Given the description of an element on the screen output the (x, y) to click on. 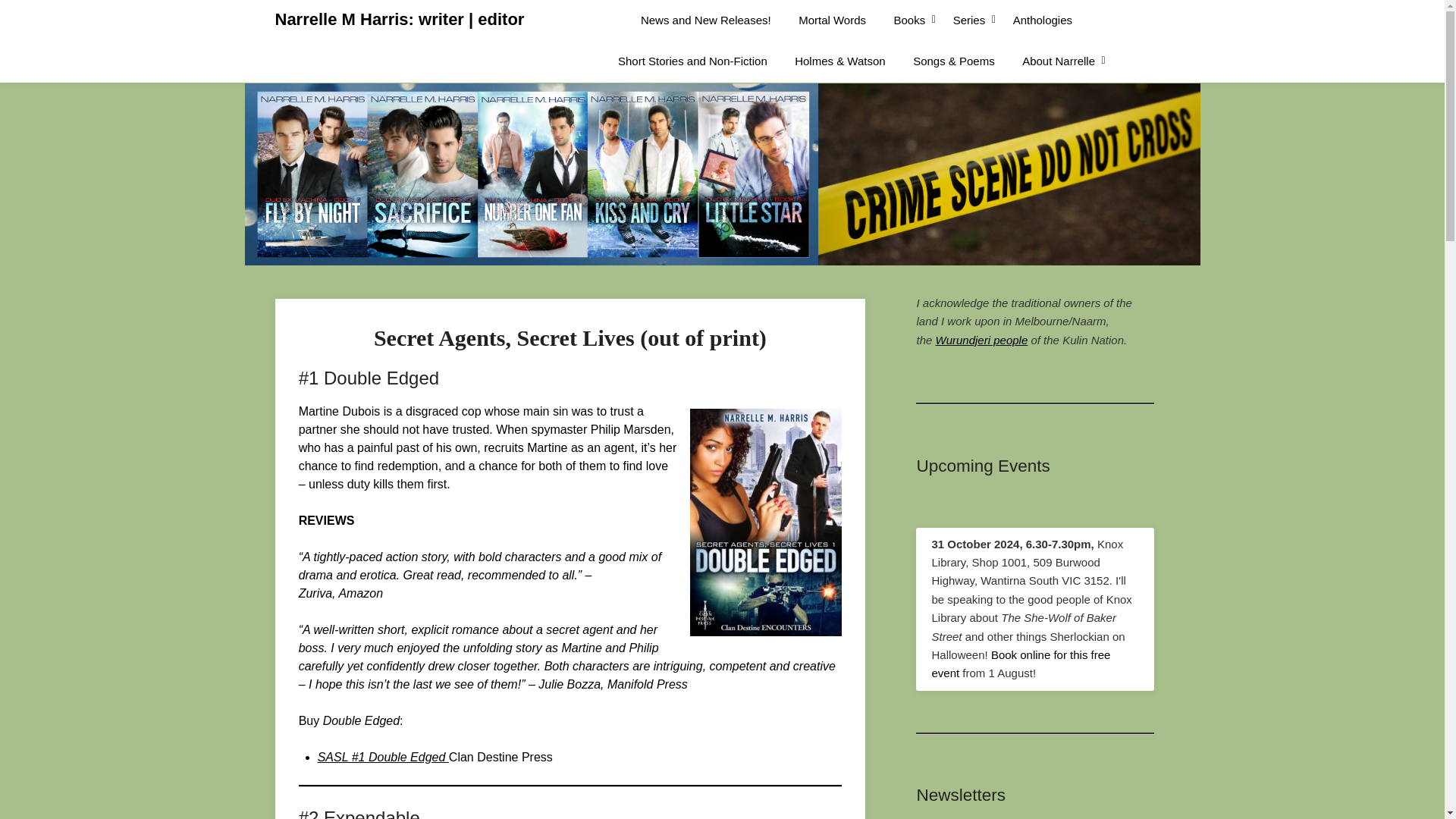
Anthologies (1042, 20)
News and New Releases! (705, 20)
Books (909, 20)
Book online for this free event (1020, 663)
Mortal Words (831, 20)
Series (968, 20)
About Narrelle (1058, 60)
Wurundjeri people (981, 339)
Short Stories and Non-Fiction (691, 60)
